Given the description of an element on the screen output the (x, y) to click on. 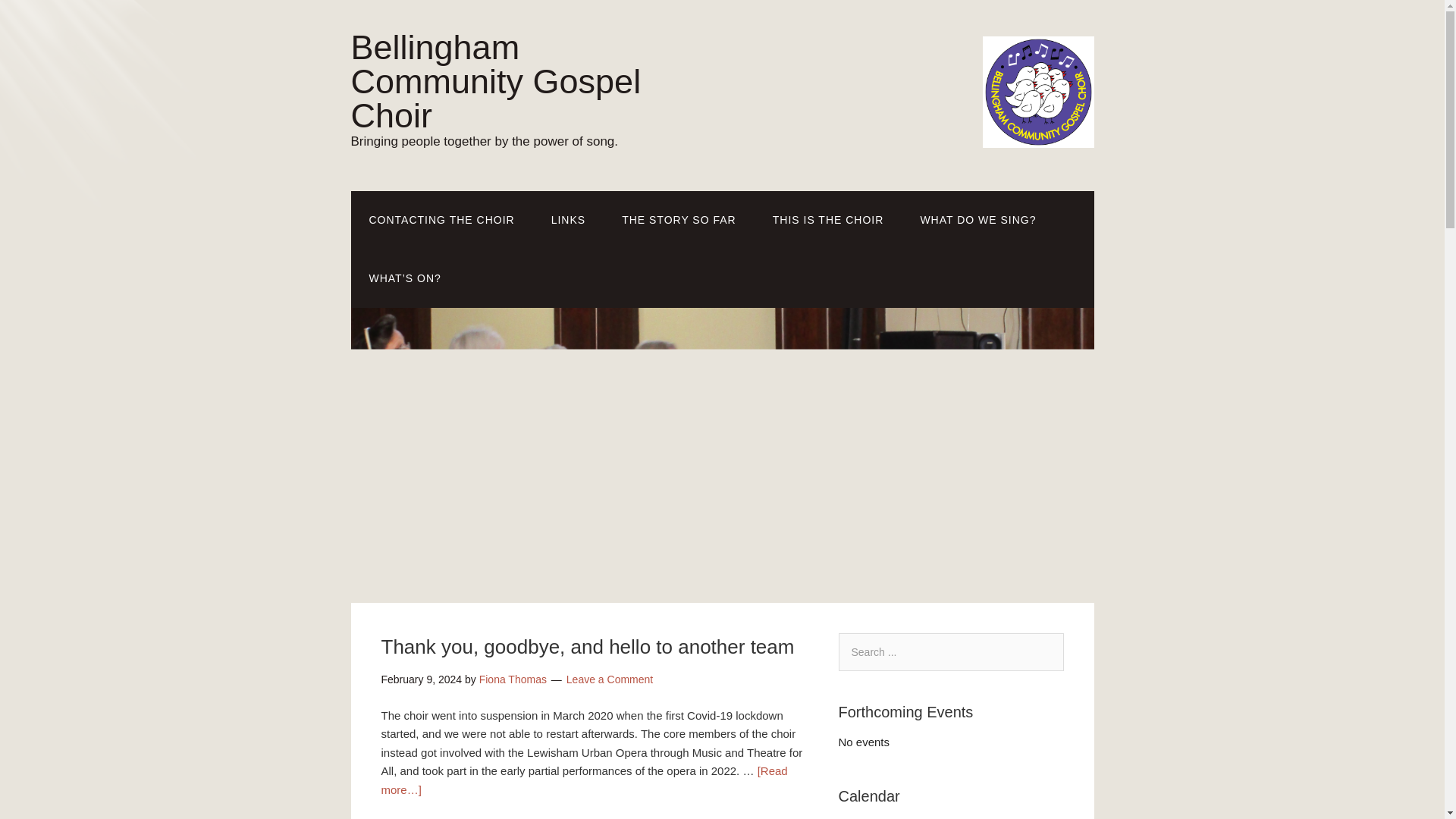
Friday, February 9, 2024, 9:03 am (420, 679)
Posts by Fiona Thomas (513, 679)
Bellingham Community Gospel Choir (495, 81)
THE STORY SO FAR (679, 219)
2024-08 (902, 818)
THIS IS THE CHOIR (828, 219)
Thank you, goodbye, and hello to another team (586, 646)
Fiona Thomas (513, 679)
Leave a Comment (609, 679)
